Given the description of an element on the screen output the (x, y) to click on. 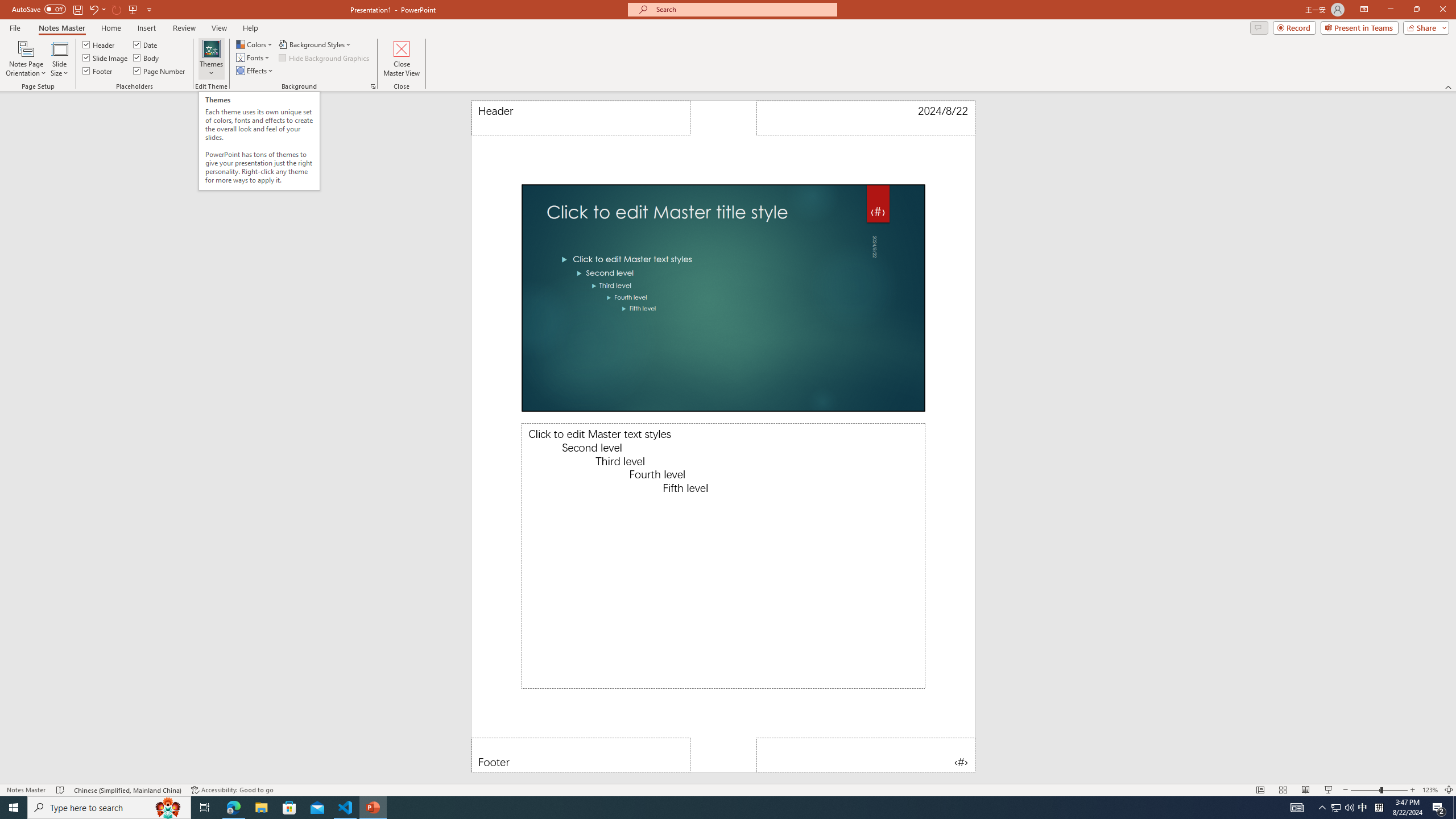
Footer (98, 69)
Body (147, 56)
Date (866, 117)
Page Number (160, 69)
